Given the description of an element on the screen output the (x, y) to click on. 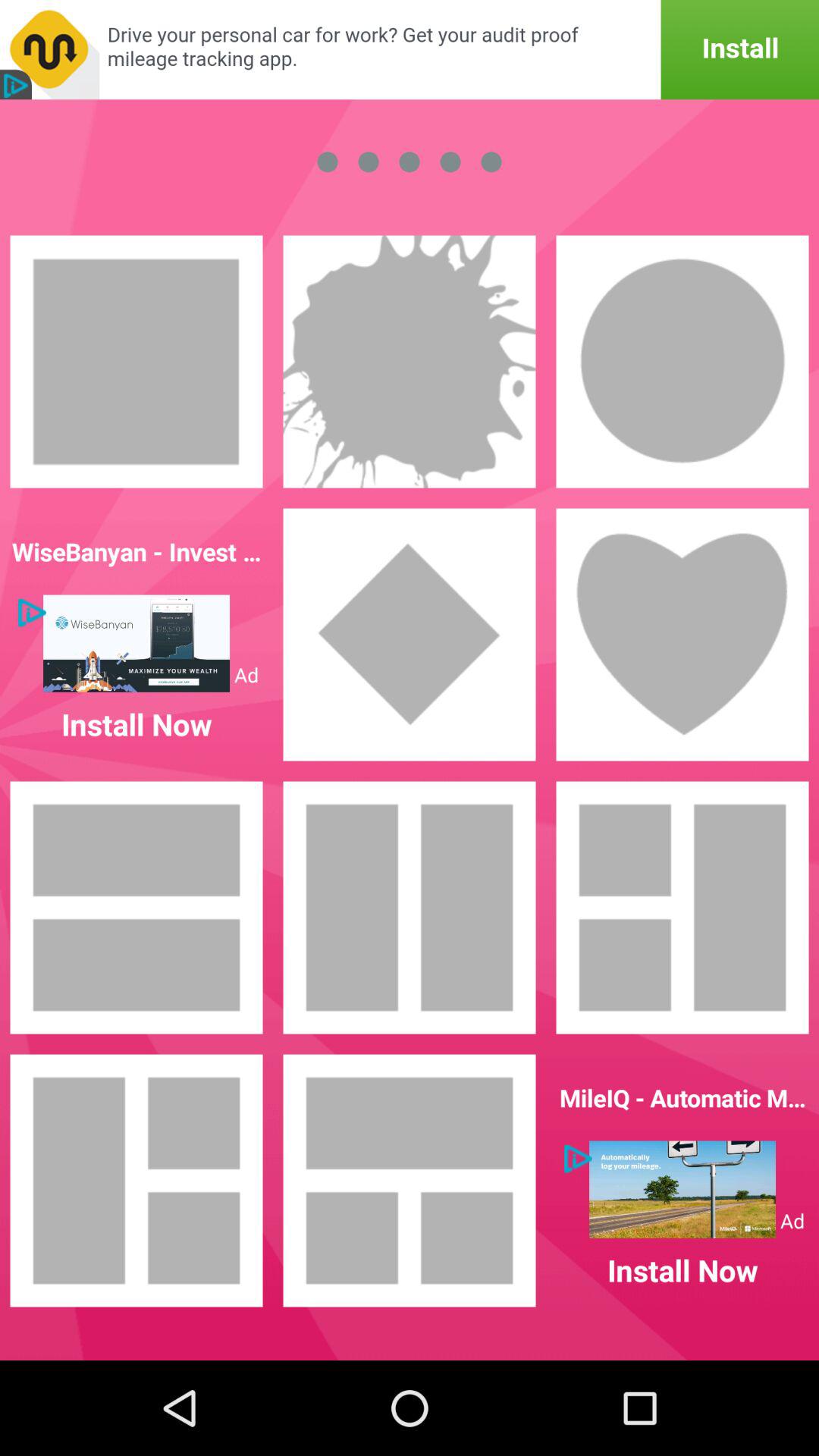
template option (136, 1180)
